Given the description of an element on the screen output the (x, y) to click on. 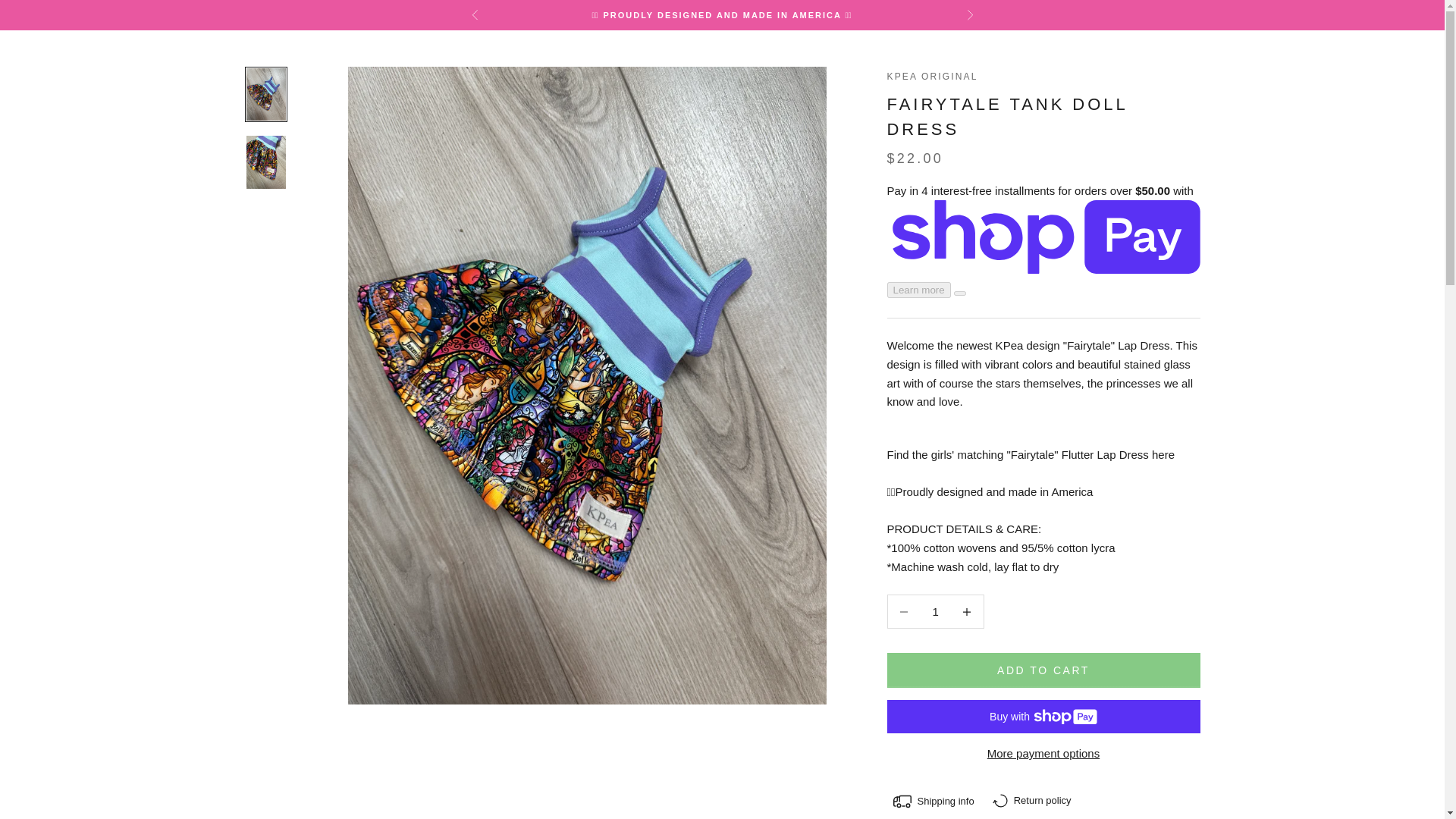
1 (935, 611)
Return policy (1032, 800)
Decrease quantity (967, 611)
KPEA ORIGINAL (932, 76)
ADD TO CART (1042, 669)
Shipping info (932, 800)
Decrease quantity (903, 611)
More payment options (1042, 753)
